Given the description of an element on the screen output the (x, y) to click on. 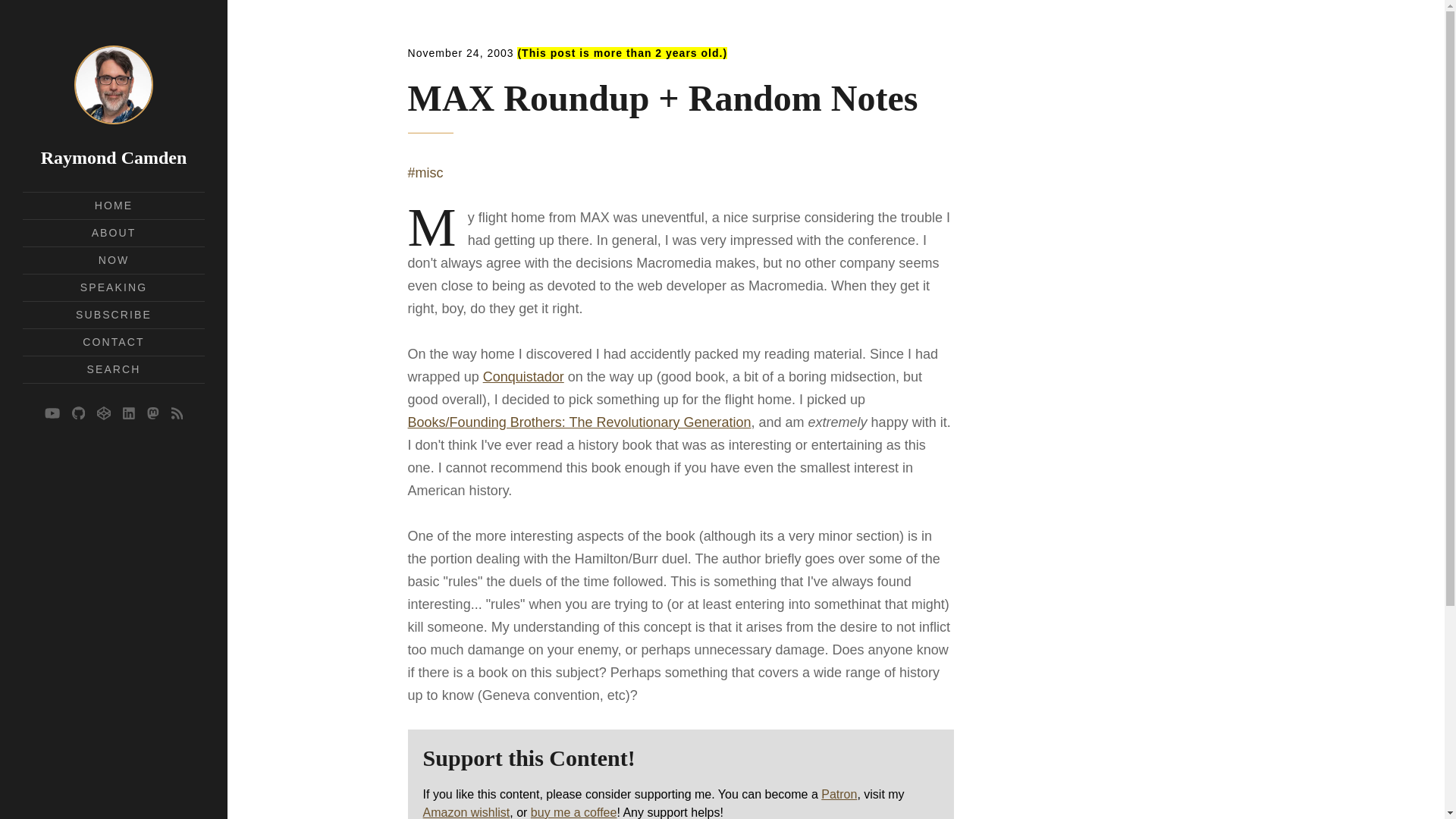
Conquistador (523, 376)
buy me a coffee (574, 812)
Patron (839, 793)
Amazon wishlist (467, 812)
ABOUT (113, 232)
SEARCH (114, 369)
SPEAKING (113, 287)
NOW (114, 259)
Raymond Camden (113, 157)
misc (425, 172)
